Given the description of an element on the screen output the (x, y) to click on. 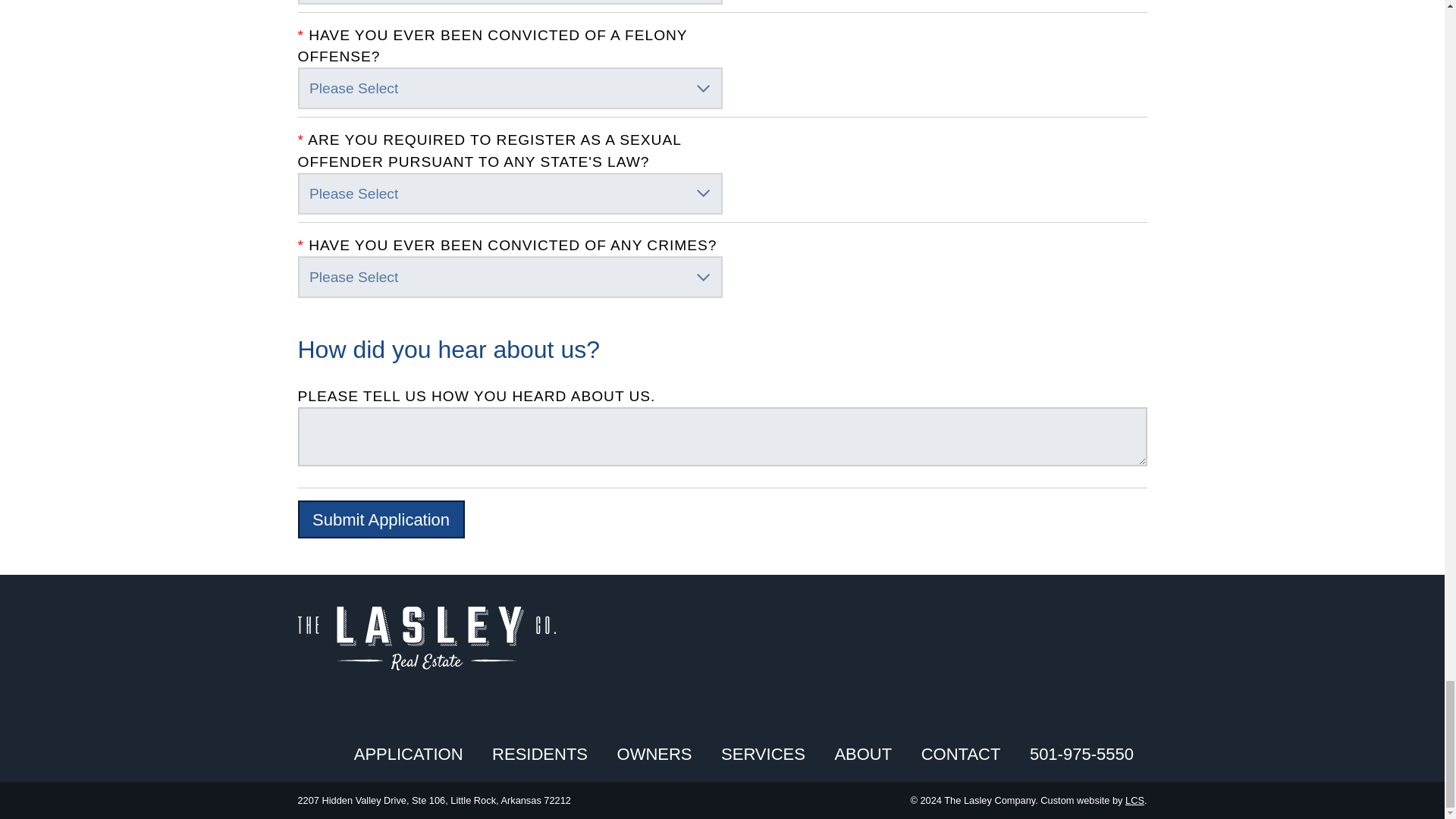
LCS (1134, 799)
ABOUT (862, 753)
SERVICES (762, 753)
APPLICATION (408, 753)
OWNERS (655, 753)
Submit Application (380, 519)
CONTACT (961, 753)
501-975-5550 (1081, 753)
RESIDENTS (540, 753)
